Given the description of an element on the screen output the (x, y) to click on. 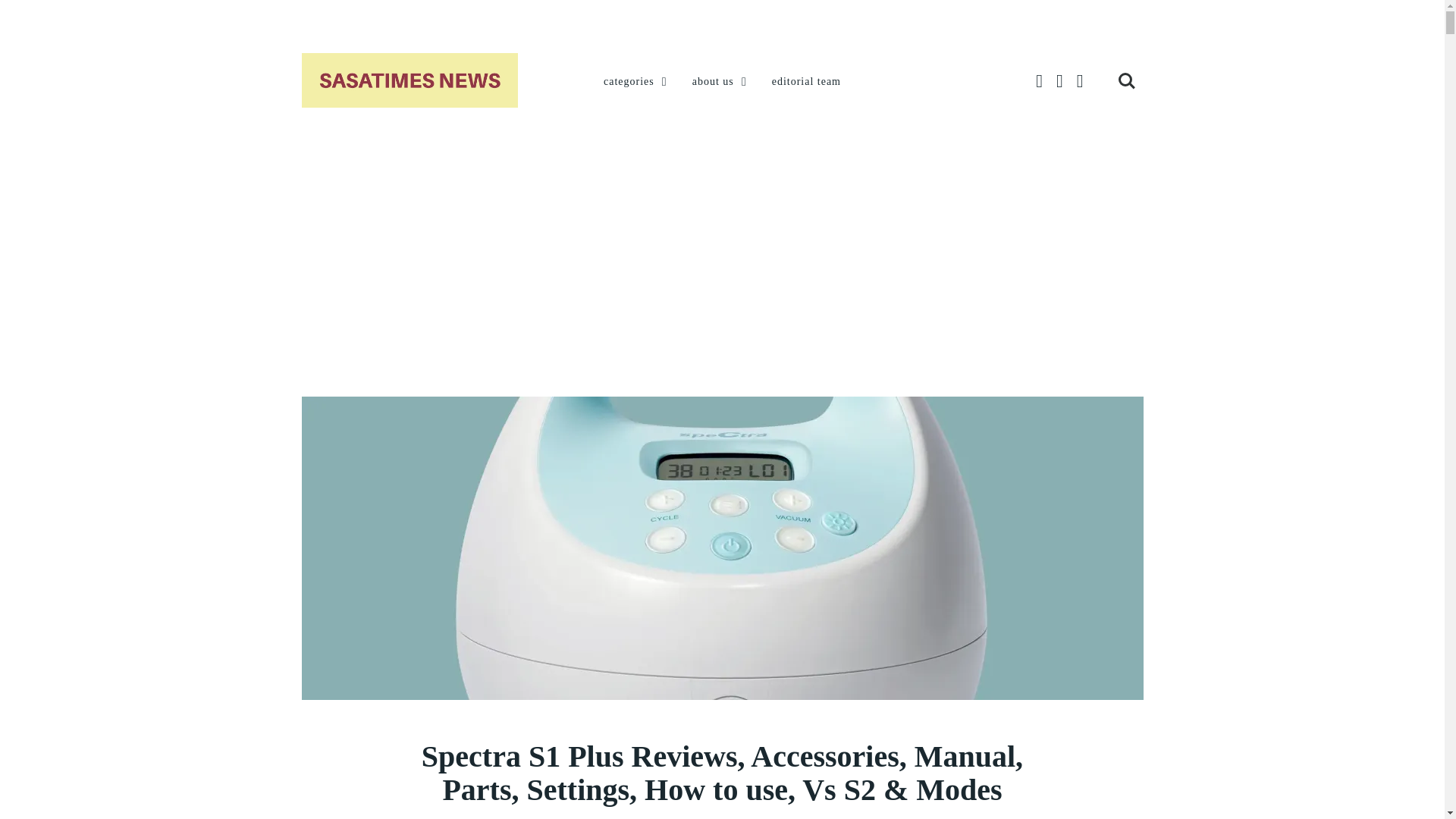
editorial team (806, 81)
categories (636, 81)
about us (721, 81)
